Given the description of an element on the screen output the (x, y) to click on. 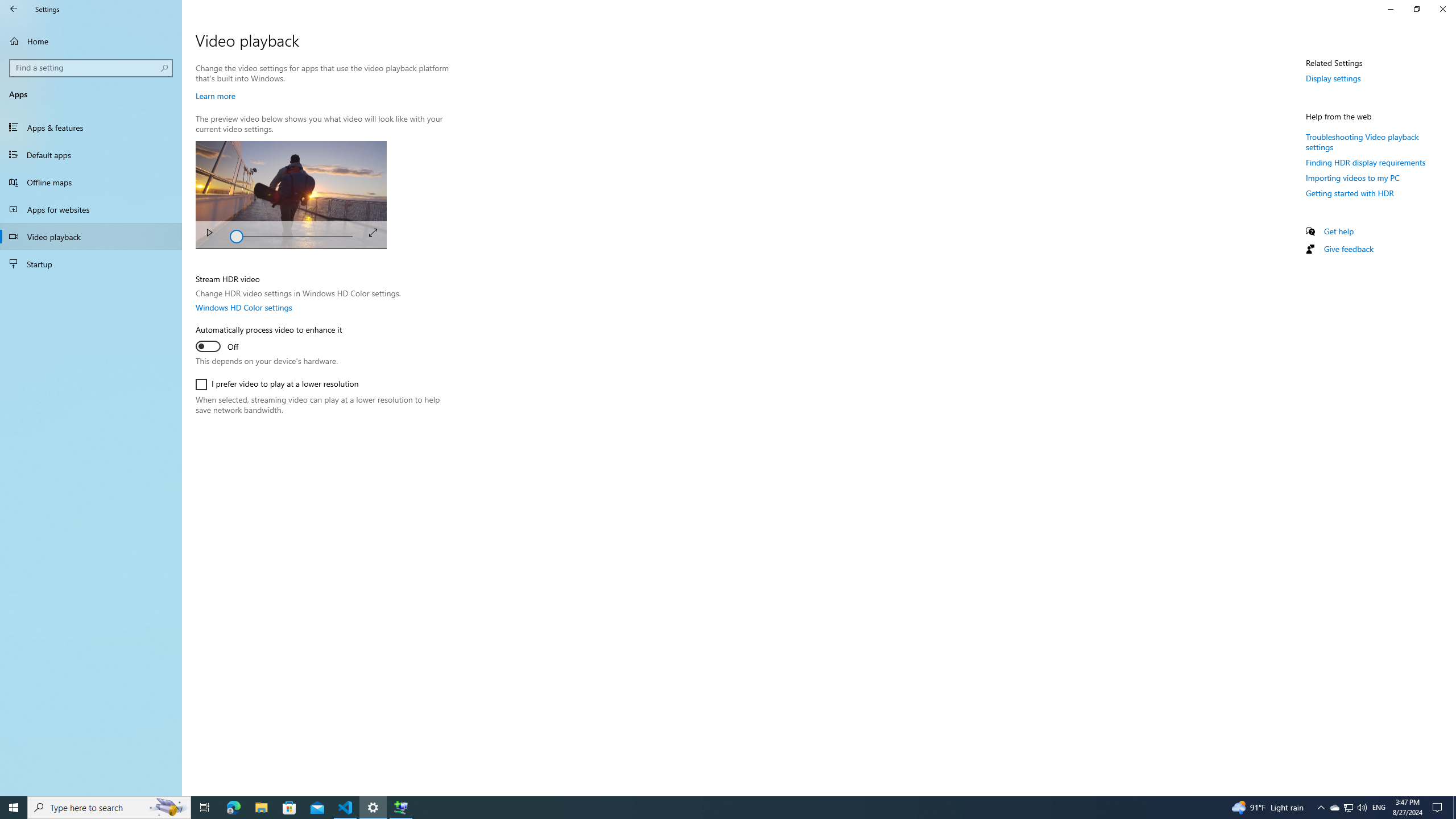
Seek (291, 235)
